Given the description of an element on the screen output the (x, y) to click on. 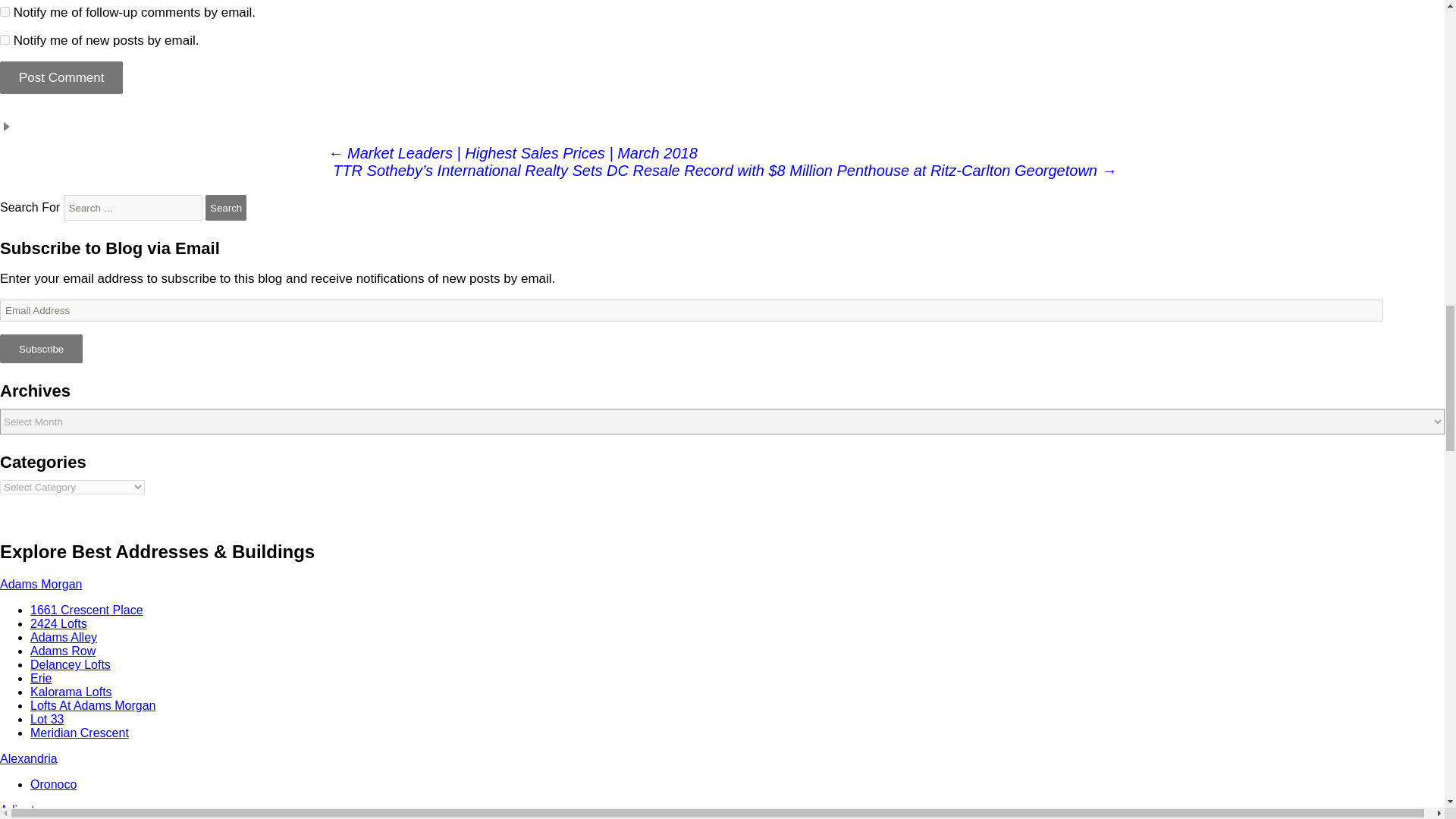
Search for: (133, 207)
subscribe (5, 40)
Search (225, 207)
Post Comment (61, 77)
subscribe (5, 11)
Search (225, 207)
